Given the description of an element on the screen output the (x, y) to click on. 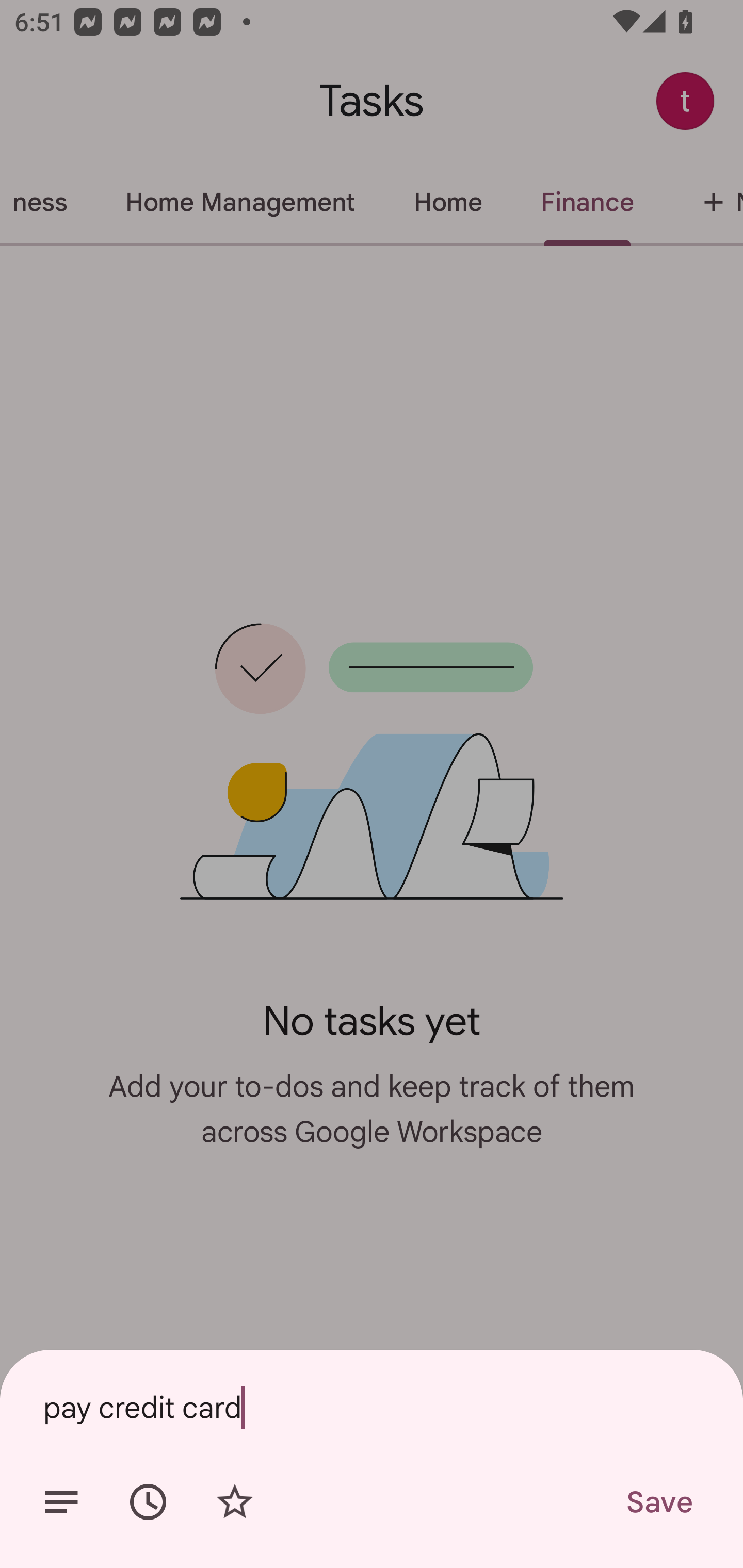
pay credit card (371, 1407)
Save (659, 1501)
Add details (60, 1501)
Set date/time (147, 1501)
Add star (234, 1501)
